Given the description of an element on the screen output the (x, y) to click on. 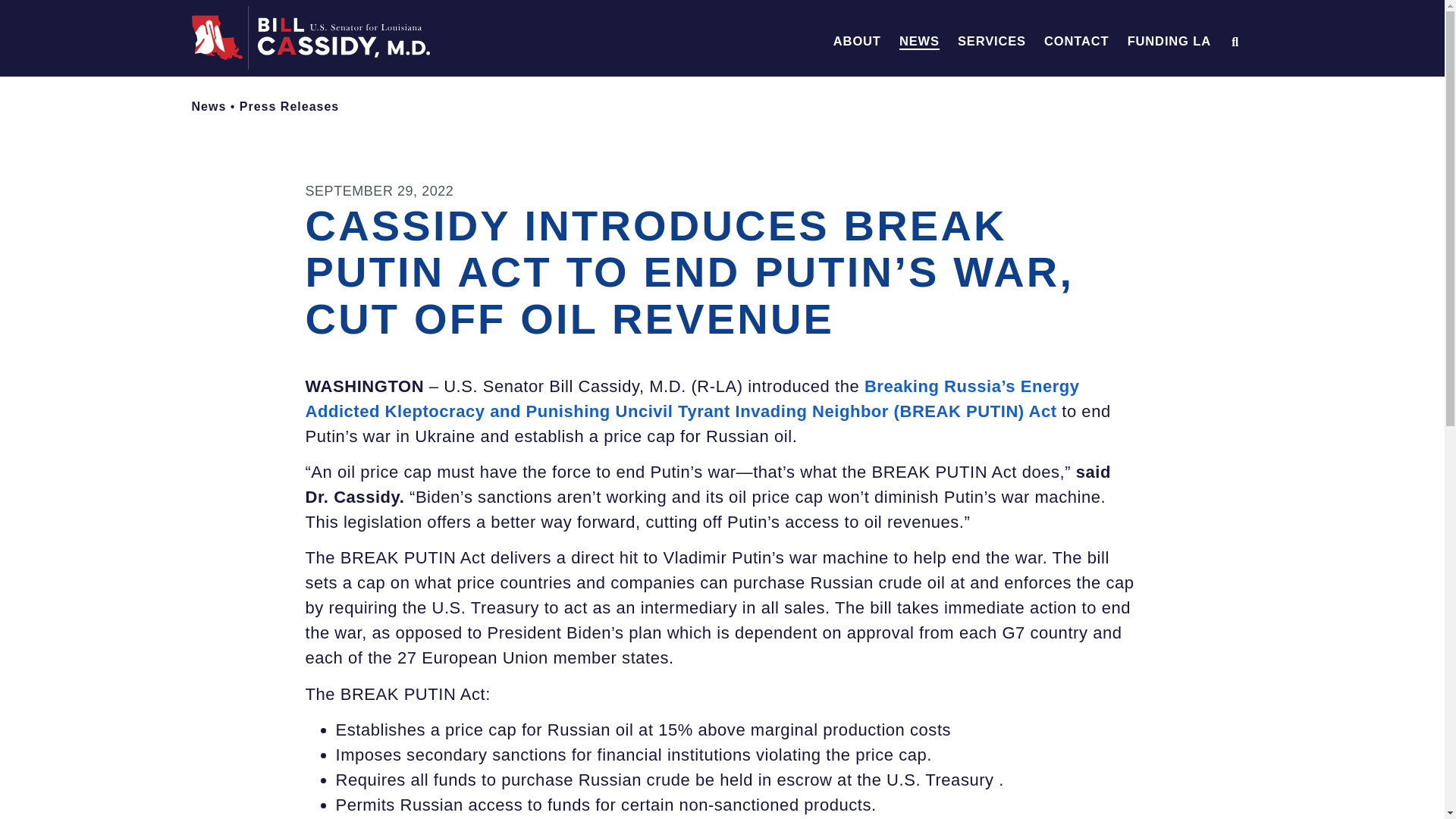
SERVICES (992, 40)
FUNDING LA (1168, 40)
CONTACT (1075, 40)
